Given the description of an element on the screen output the (x, y) to click on. 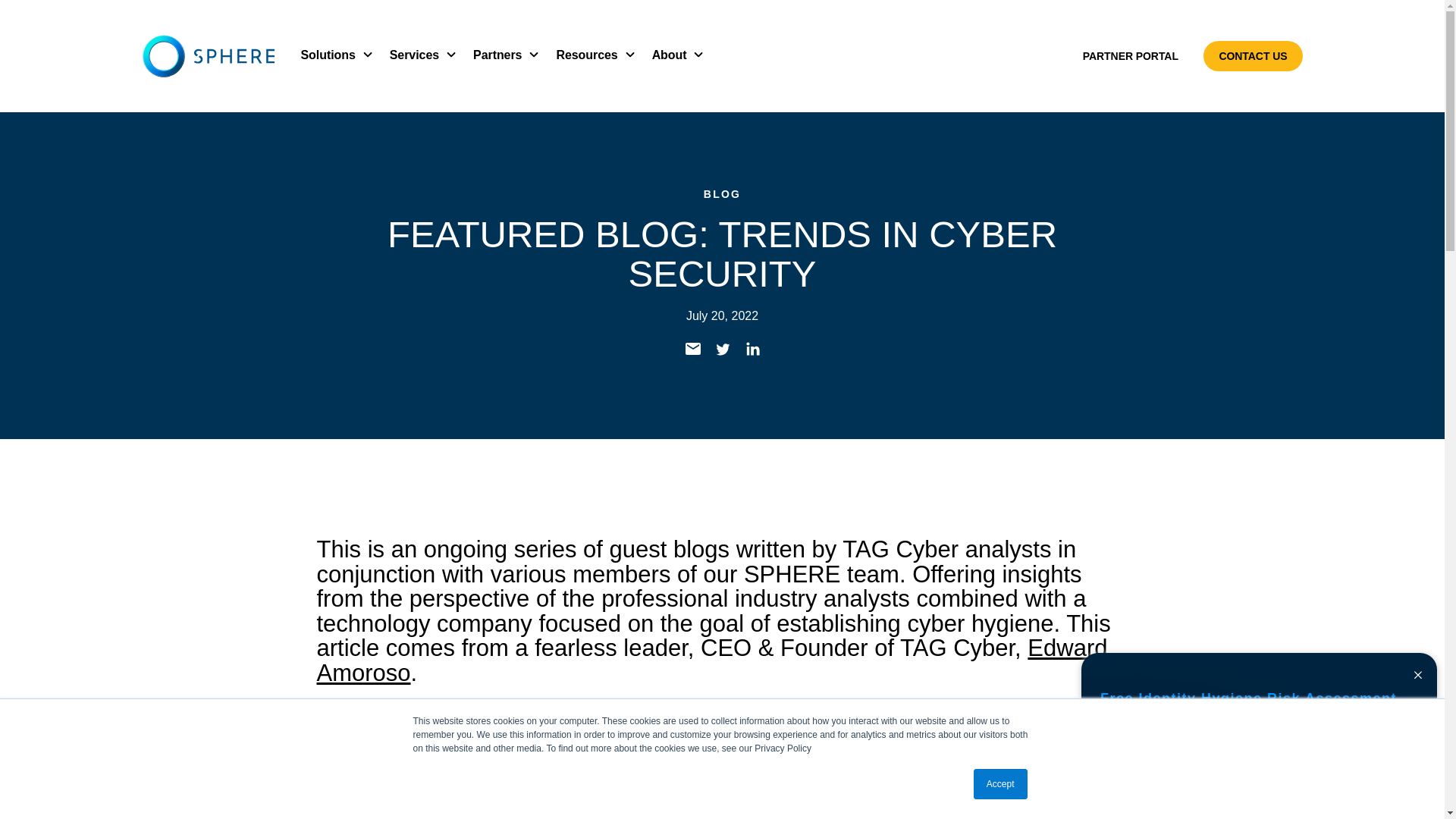
Solutions (332, 55)
Partners (502, 55)
Email (691, 351)
Popup CTA (1259, 731)
LinkedIn (751, 351)
Resources (592, 55)
Accept (1000, 784)
PARTNER PORTAL (1130, 55)
Twitter (721, 351)
About (675, 55)
Services (419, 55)
